Given the description of an element on the screen output the (x, y) to click on. 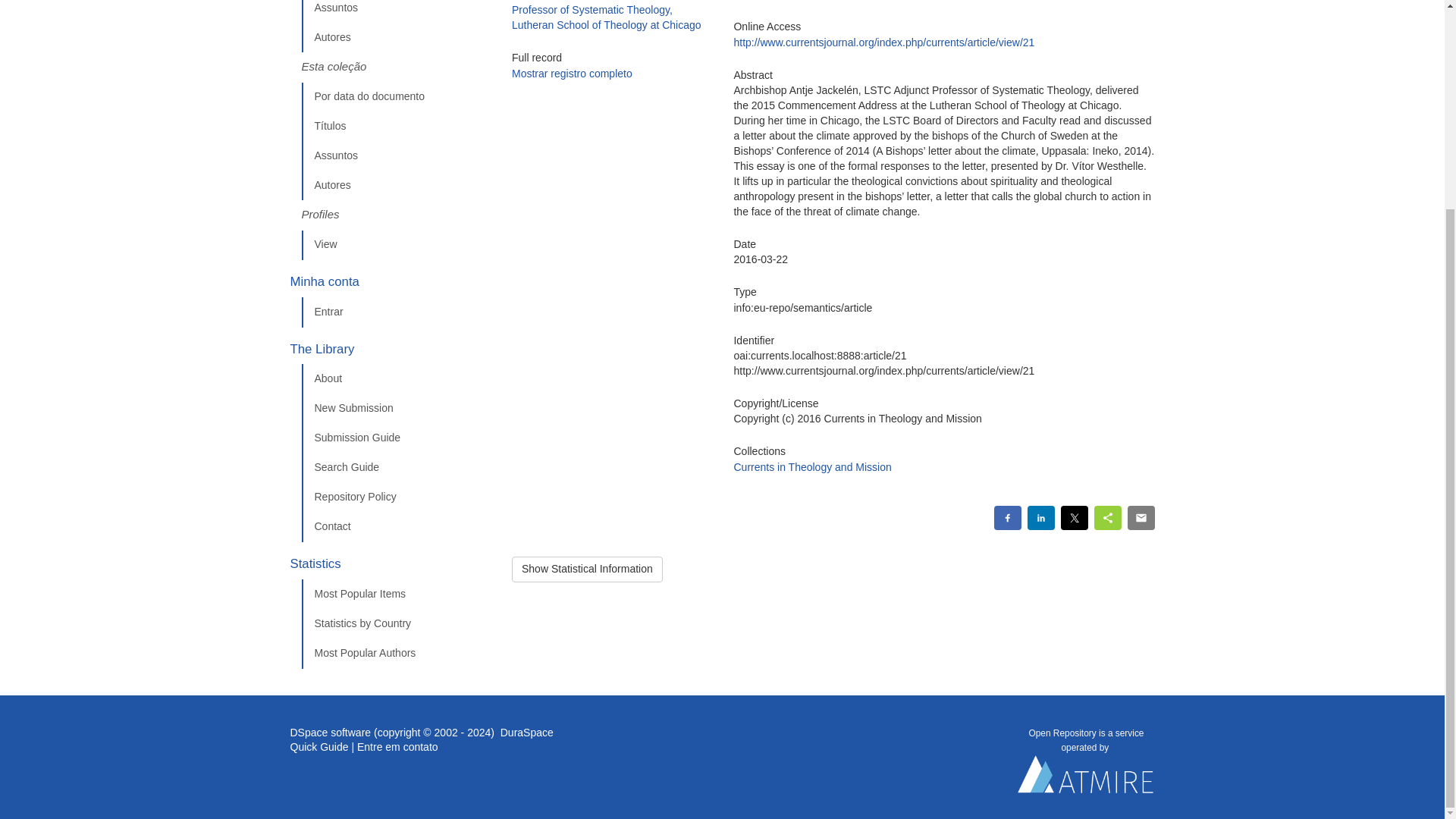
Autores (395, 37)
Atmire NV (1085, 778)
Assuntos (395, 11)
